Given the description of an element on the screen output the (x, y) to click on. 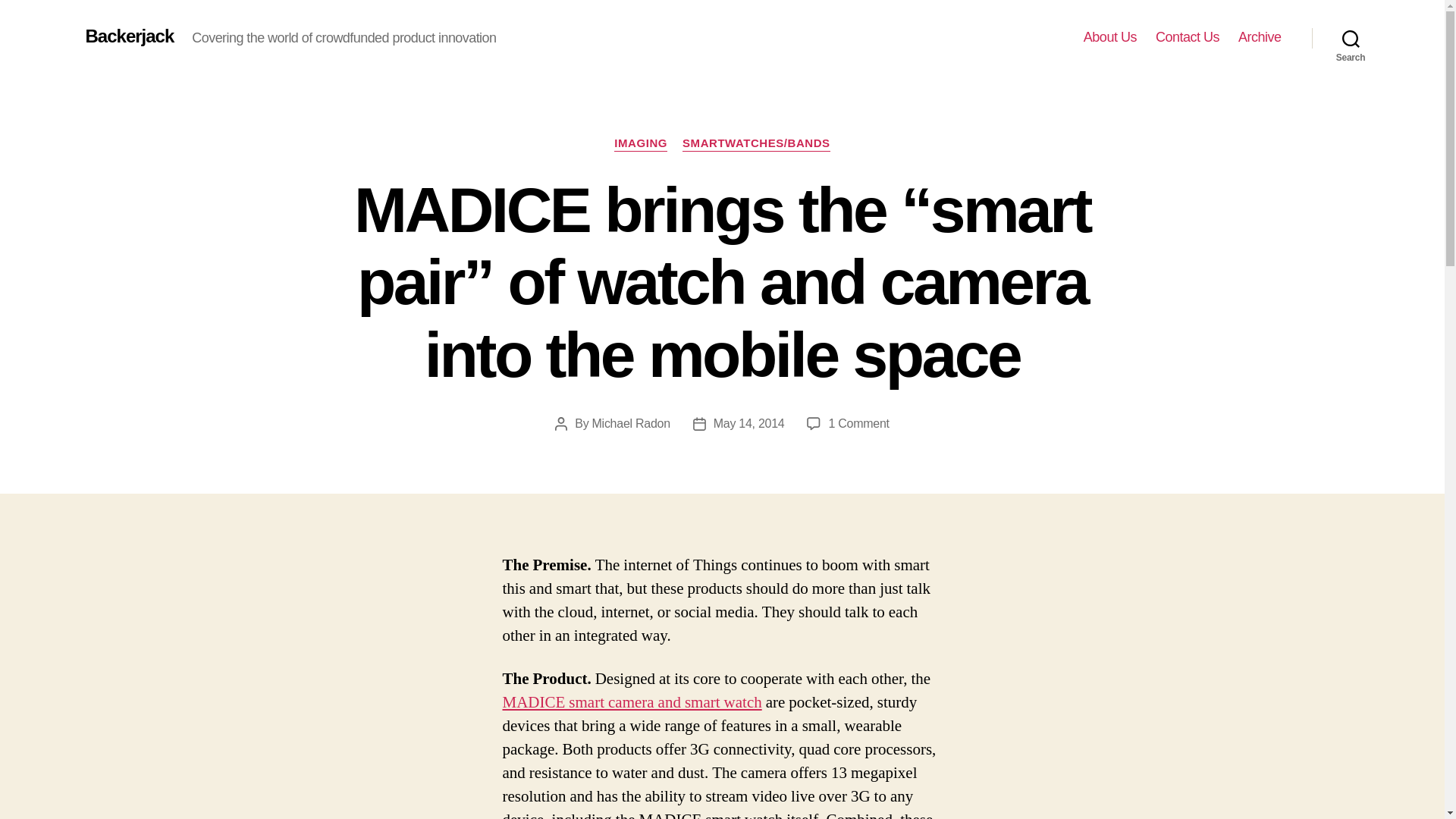
Indiegogo - MADICE Smart Watch and Smart Camera (631, 702)
About Us (1110, 37)
Contact Us (1188, 37)
IMAGING (640, 143)
Backerjack (128, 36)
Michael Radon (630, 422)
May 14, 2014 (748, 422)
Archive (1260, 37)
MADICE smart camera and smart watch (631, 702)
Search (1350, 37)
